Given the description of an element on the screen output the (x, y) to click on. 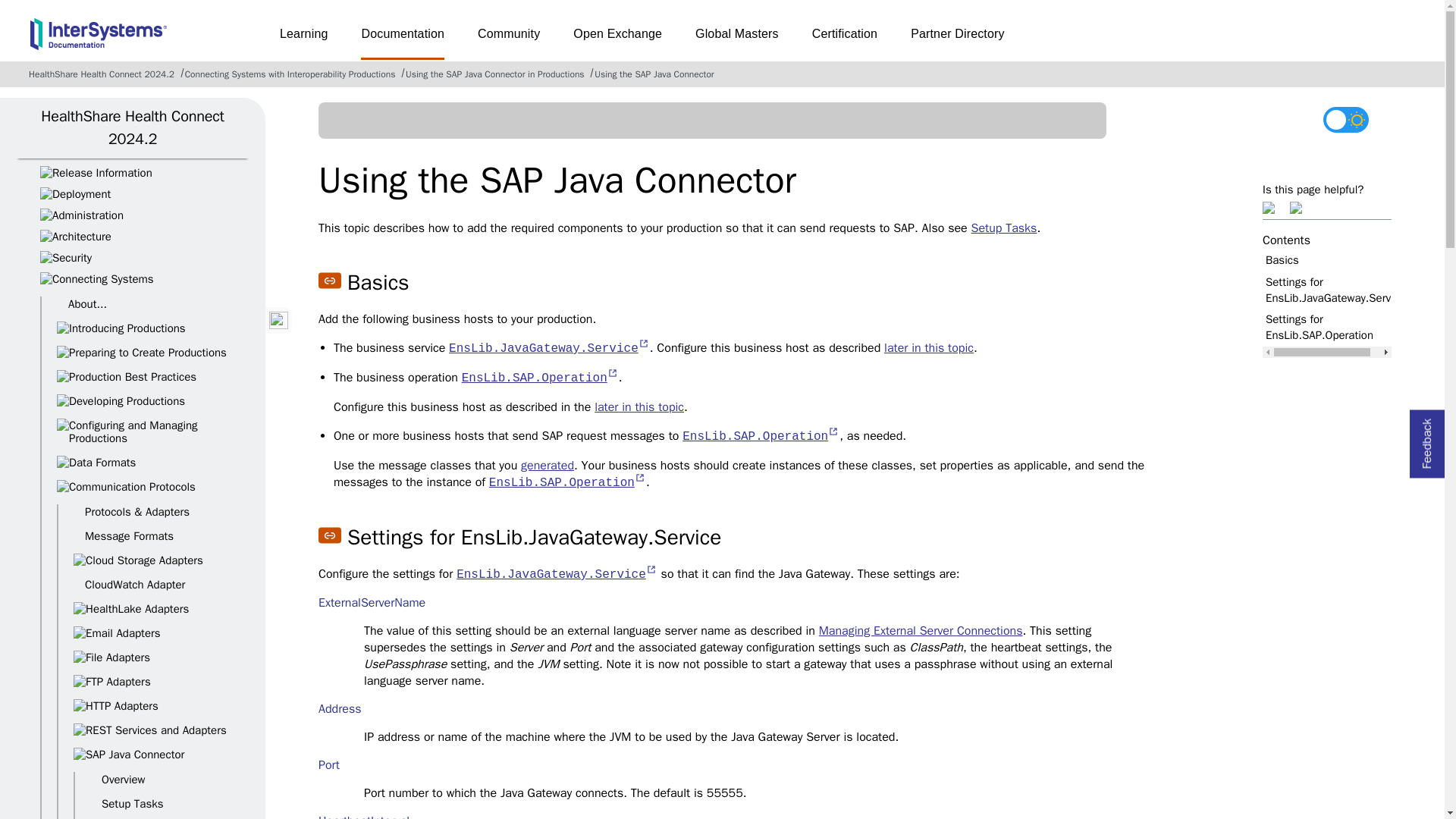
Learning (303, 39)
Connecting Systems with Interoperability Productions (290, 73)
HealthShare Health Connect 2024.2 (101, 73)
Open Exchange (617, 39)
HealthShare Health Connect 2024.2 (132, 127)
Community (508, 39)
Using the SAP Java Connector in Productions (495, 73)
Documentation (402, 39)
Certification (844, 39)
Global Masters (736, 39)
